Given the description of an element on the screen output the (x, y) to click on. 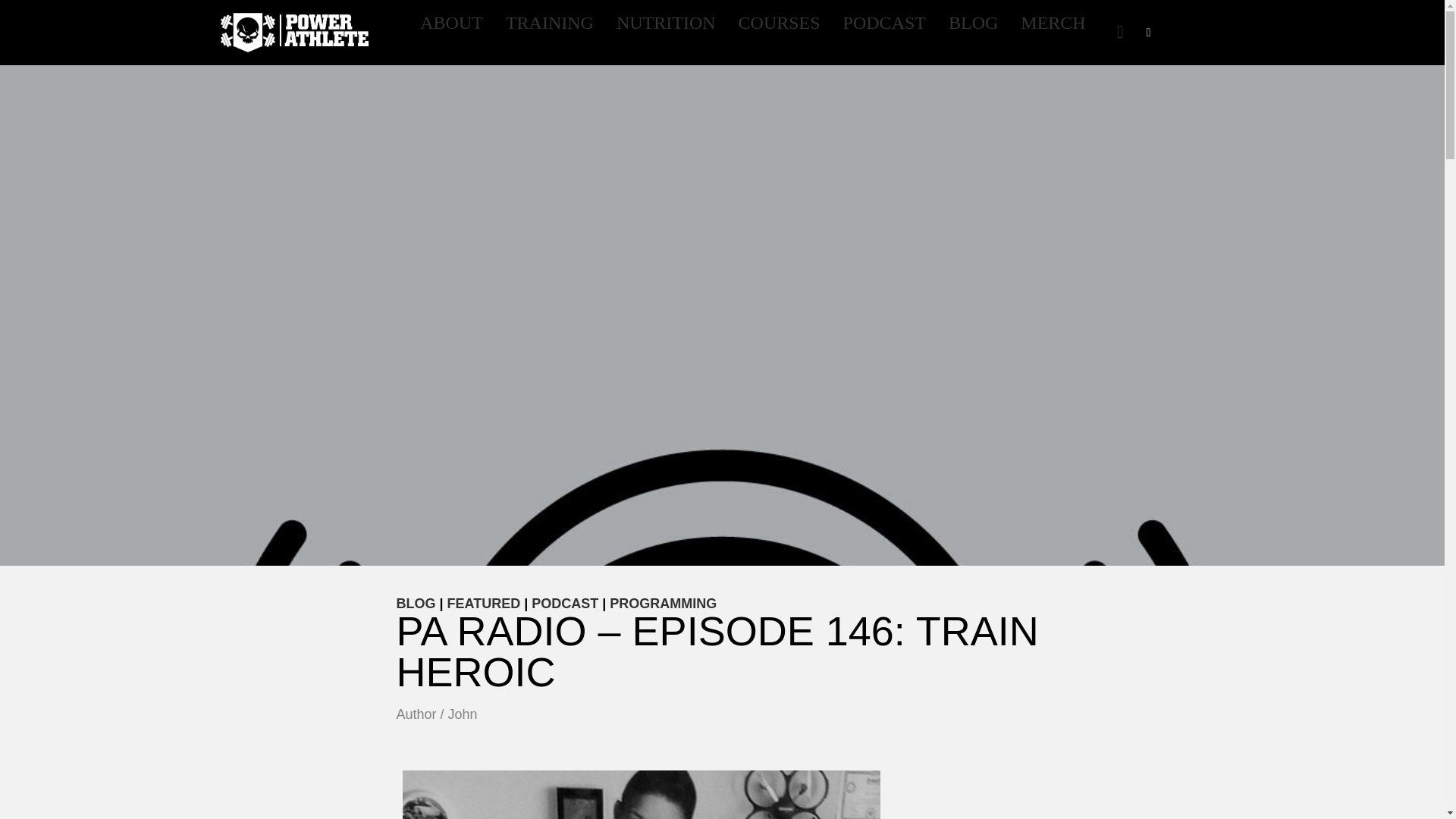
NUTRITION (736, 32)
COURSES (665, 23)
site-logo (778, 23)
ABOUT (294, 32)
TRAINING (452, 23)
